Given the description of an element on the screen output the (x, y) to click on. 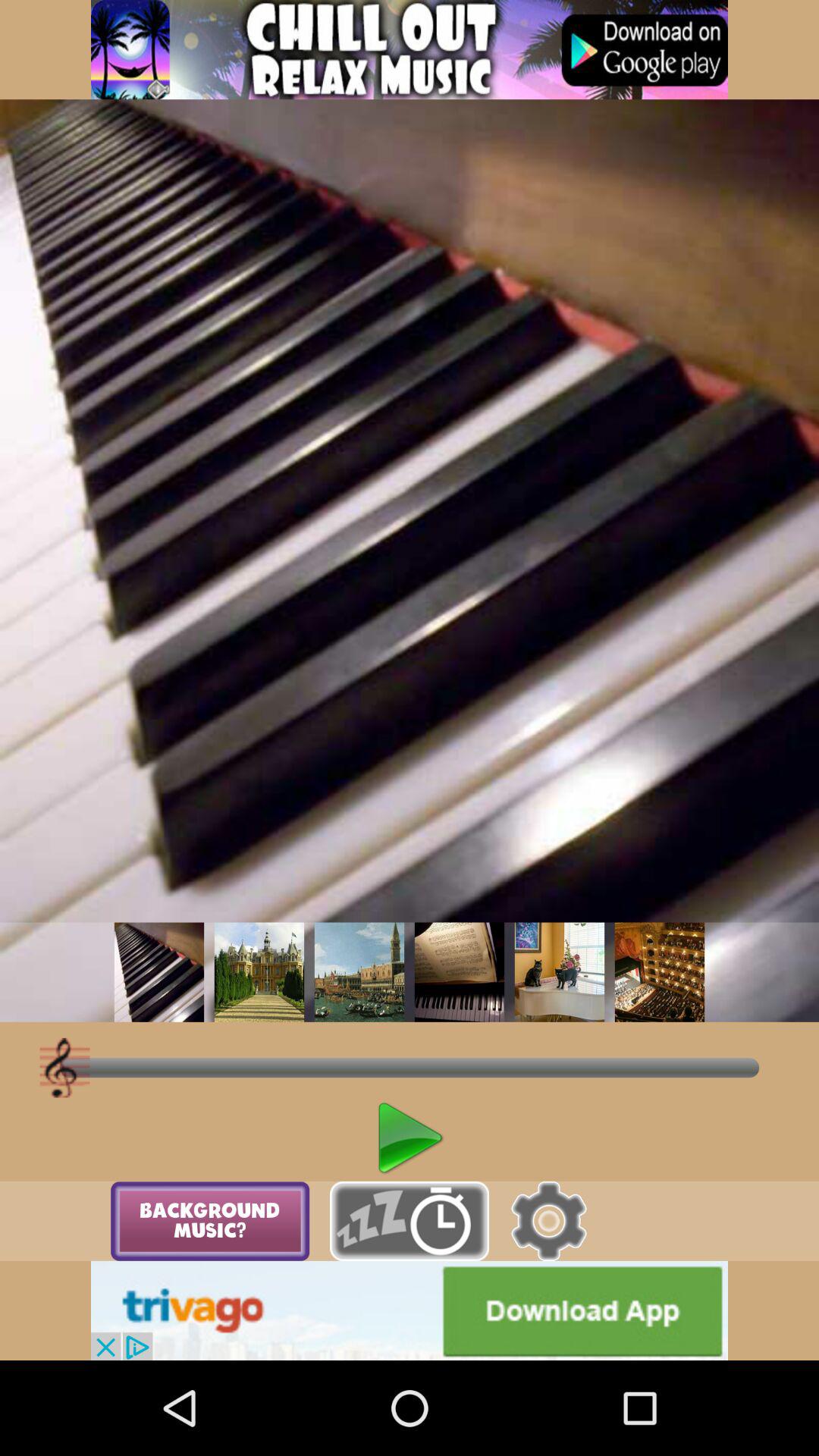
to select the picture (259, 972)
